Given the description of an element on the screen output the (x, y) to click on. 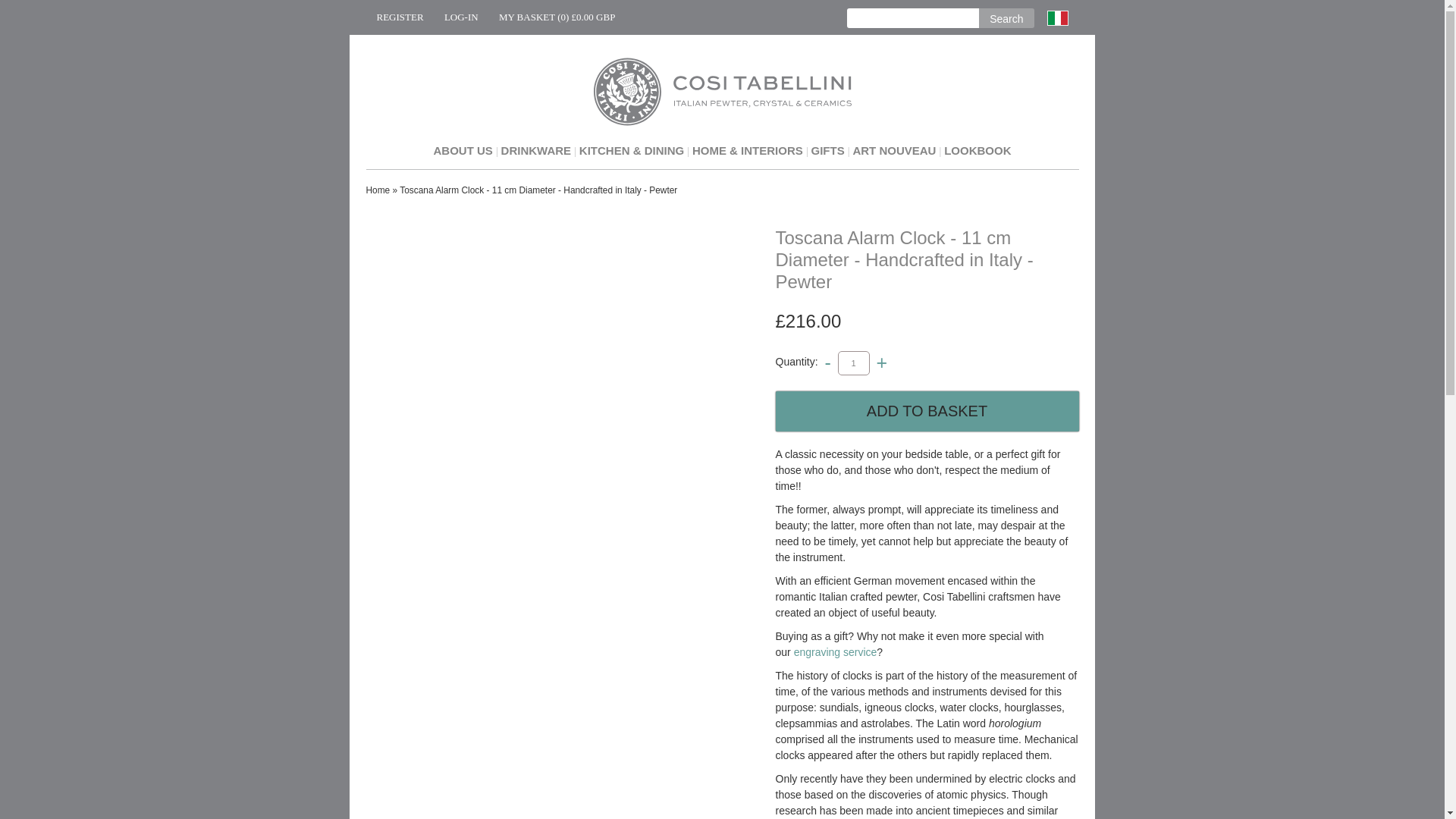
Engraving (835, 652)
Add to basket (926, 411)
LOG-IN (461, 17)
Home (377, 190)
REGISTER (399, 17)
Search (1005, 17)
Cosi Tabellini UK (721, 91)
1 (853, 363)
Search (1005, 17)
